Given the description of an element on the screen output the (x, y) to click on. 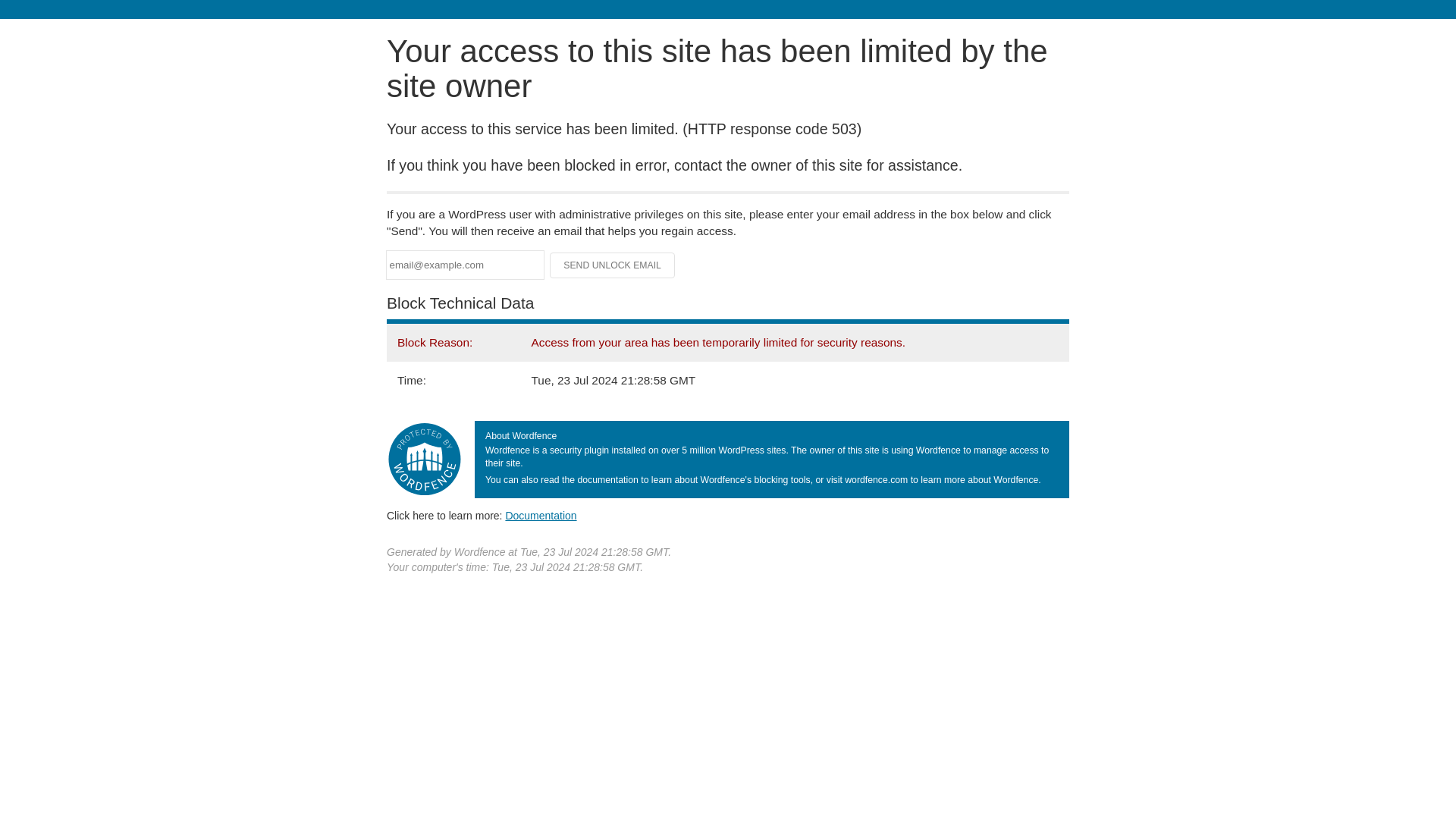
Send Unlock Email (612, 265)
Send Unlock Email (612, 265)
Documentation (540, 515)
